Given the description of an element on the screen output the (x, y) to click on. 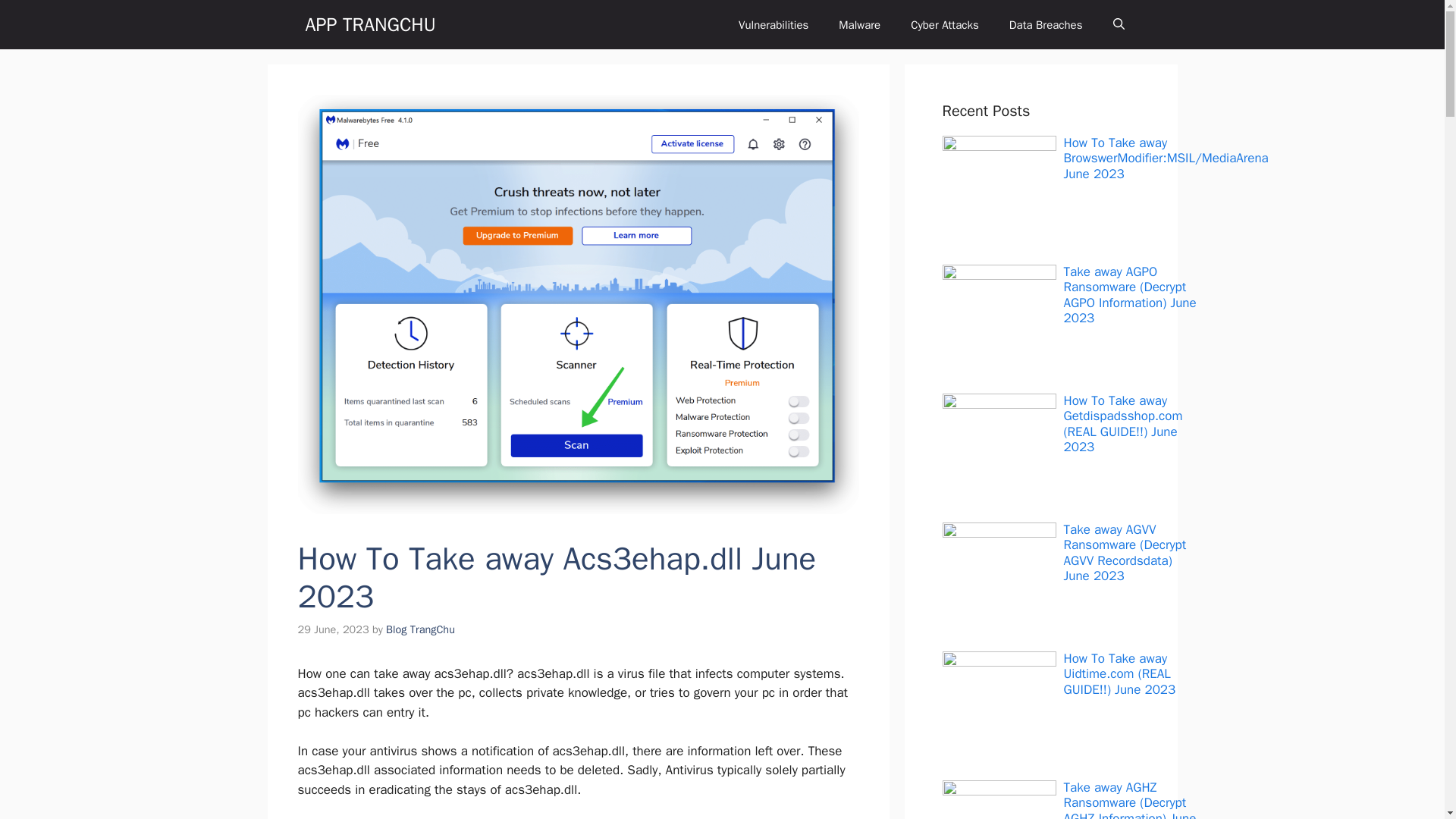
APP TRANGCHU (369, 24)
Cyber Attacks (944, 23)
Malware (859, 23)
Vulnerabilities (773, 23)
Blog TrangChu (419, 629)
Data Breaches (1045, 23)
View all posts by Blog TrangChu (419, 629)
